Given the description of an element on the screen output the (x, y) to click on. 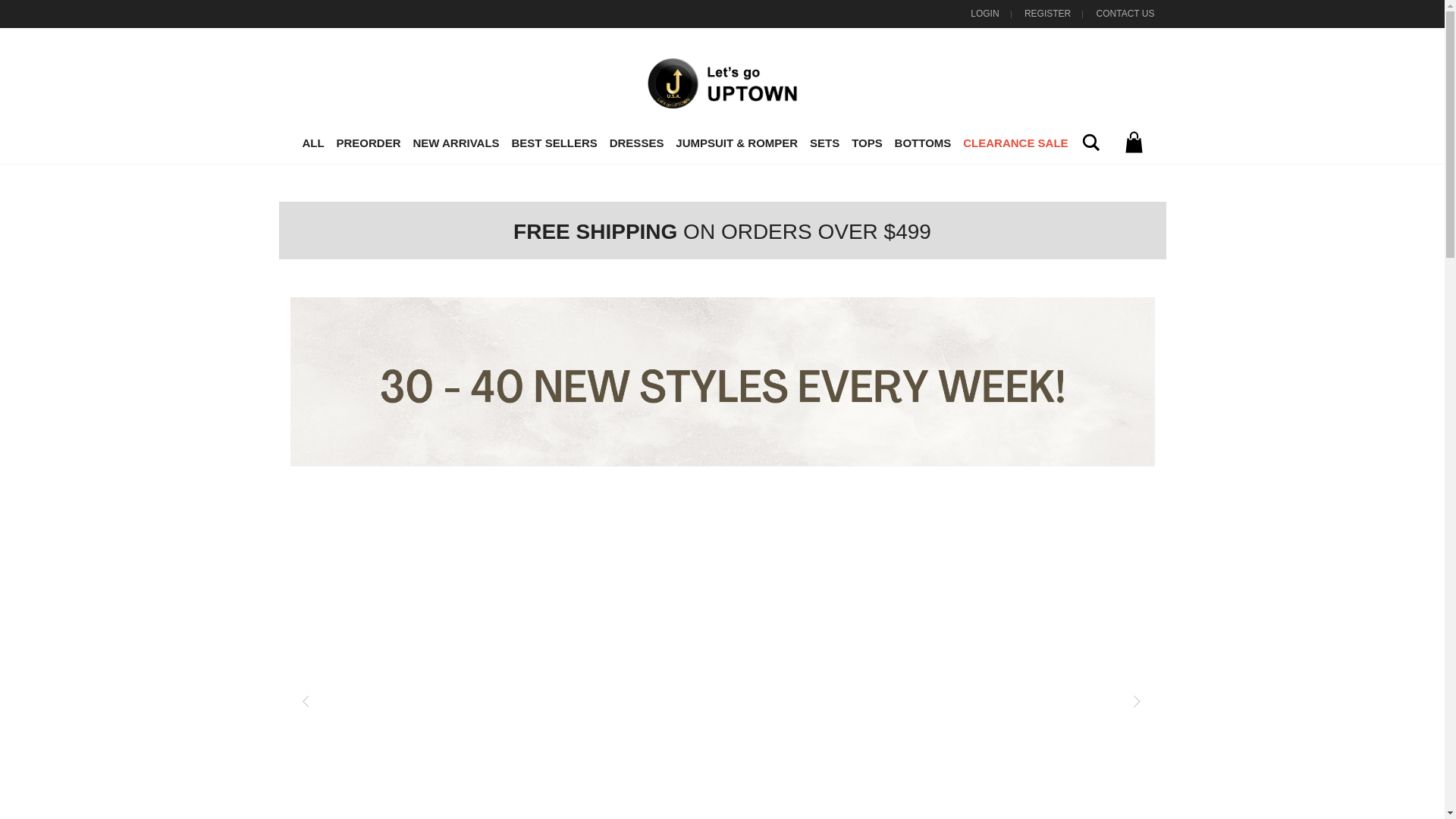
CONTACT US (1125, 13)
CLEARANCE SALE (1014, 143)
SETS (824, 143)
DRESSES (636, 143)
BOTTOMS (922, 143)
TOPS (866, 143)
BEST SELLERS (553, 143)
NEW ARRIVALS (455, 143)
ALL (313, 143)
PREORDER (367, 143)
REGISTER (1047, 13)
LOGIN (984, 13)
Search (1091, 142)
